Given the description of an element on the screen output the (x, y) to click on. 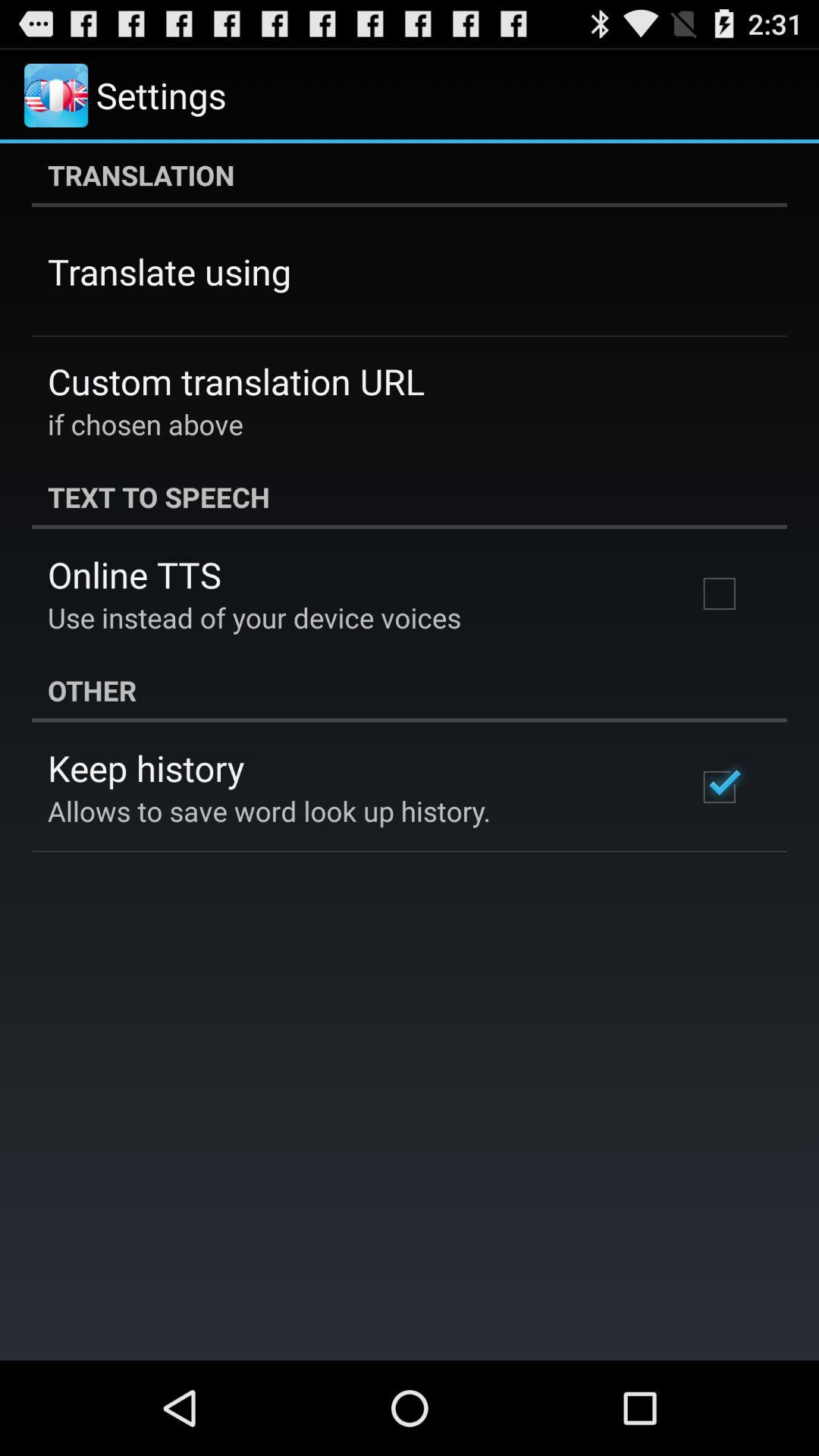
tap the icon above the allows to save item (145, 767)
